Given the description of an element on the screen output the (x, y) to click on. 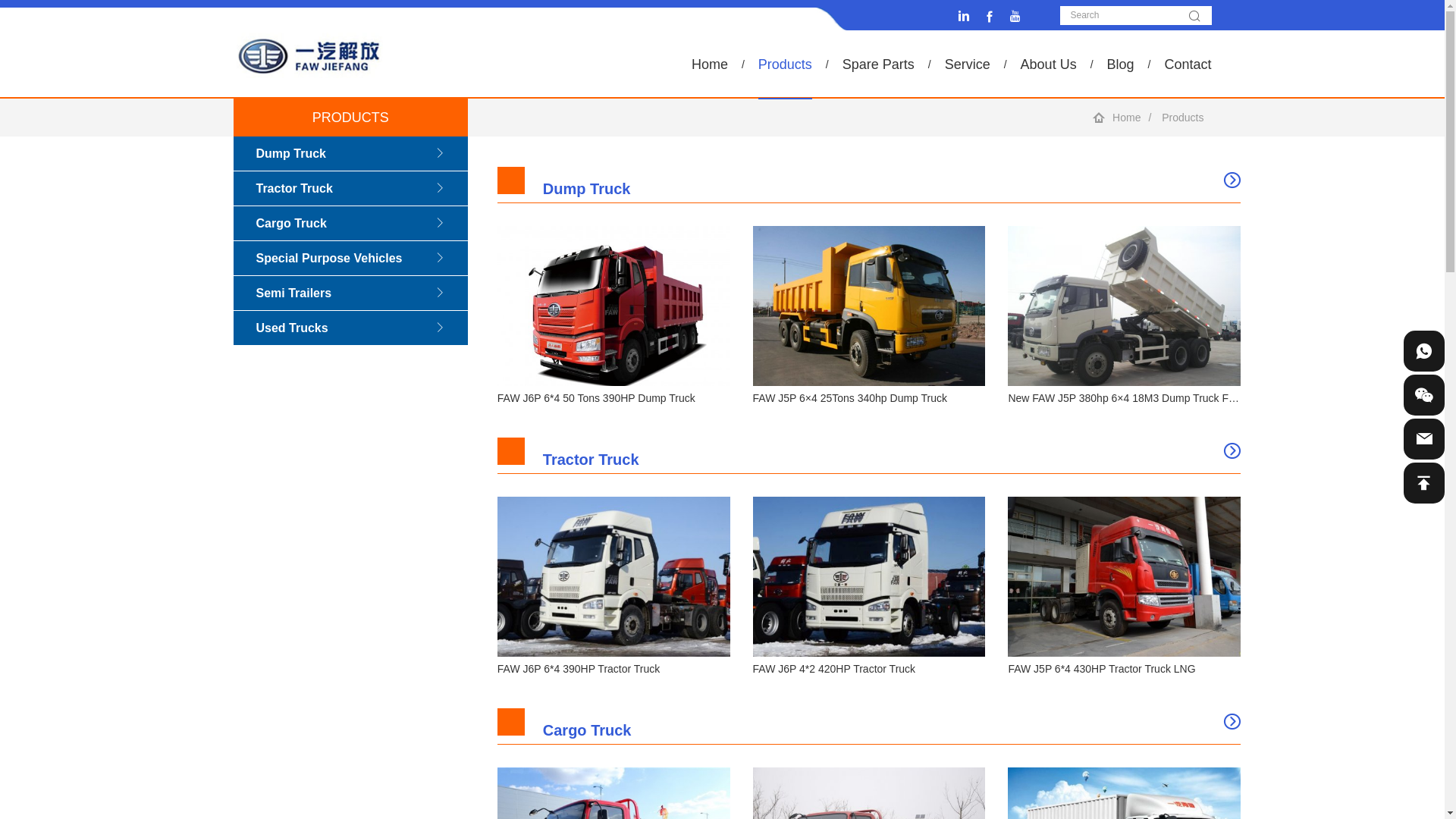
Products Element type: text (785, 64)
FAW J6P 6*4 50 Tons 390HP Dump Truck Element type: text (596, 398)
Special Purpose Vehicles Element type: text (350, 258)
Cargo Truck Element type: text (350, 223)
FAW J5P 6*4 430HP Tractor Truck LNG Element type: text (1101, 668)
Home Element type: text (1126, 117)
Products Element type: text (1182, 117)
Contact Element type: text (1187, 64)
Dump Truck Element type: text (868, 184)
Service Element type: text (967, 64)
Cargo Truck Element type: text (868, 725)
Used Trucks Element type: text (350, 327)
Spare Parts Element type: text (878, 64)
Semi Trailers Element type: text (350, 293)
Tractor Truck Element type: text (350, 188)
Blog Element type: text (1120, 64)
FAW J6P 6*4 390HP Tractor Truck Element type: text (578, 668)
FAW J6P 4*2 420HP Tractor Truck Element type: text (834, 668)
Dump Truck Element type: text (350, 153)
About Us Element type: text (1048, 64)
Tractor Truck Element type: text (868, 455)
Home Element type: text (709, 64)
